Given the description of an element on the screen output the (x, y) to click on. 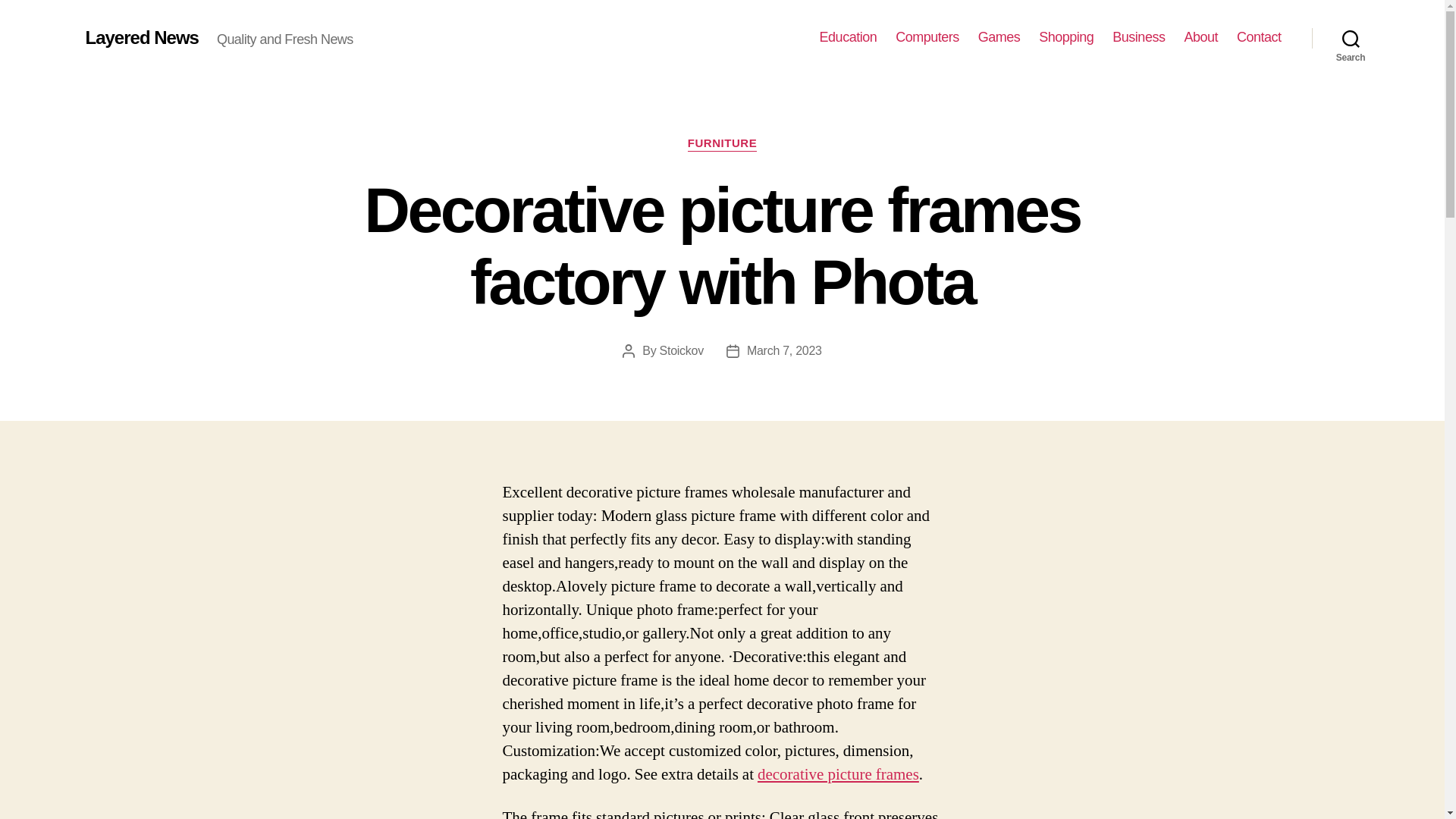
Layered News (141, 37)
Education (848, 37)
March 7, 2023 (784, 350)
Games (999, 37)
Stoickov (681, 350)
Contact (1258, 37)
Shopping (1066, 37)
Business (1138, 37)
FURNITURE (722, 143)
decorative picture frames (837, 774)
